Given the description of an element on the screen output the (x, y) to click on. 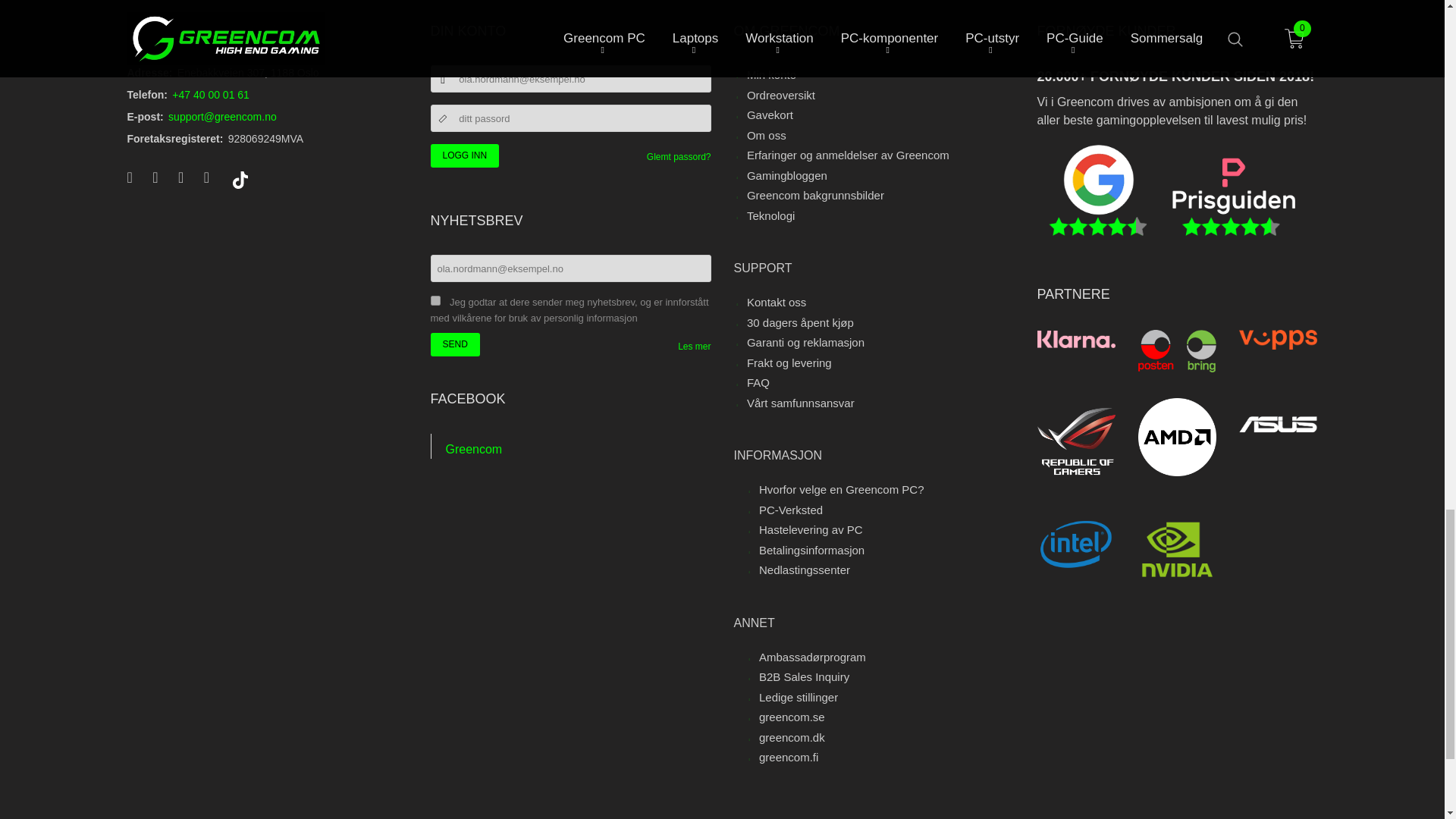
Send (455, 344)
Logg inn (464, 155)
on (435, 300)
